Given the description of an element on the screen output the (x, y) to click on. 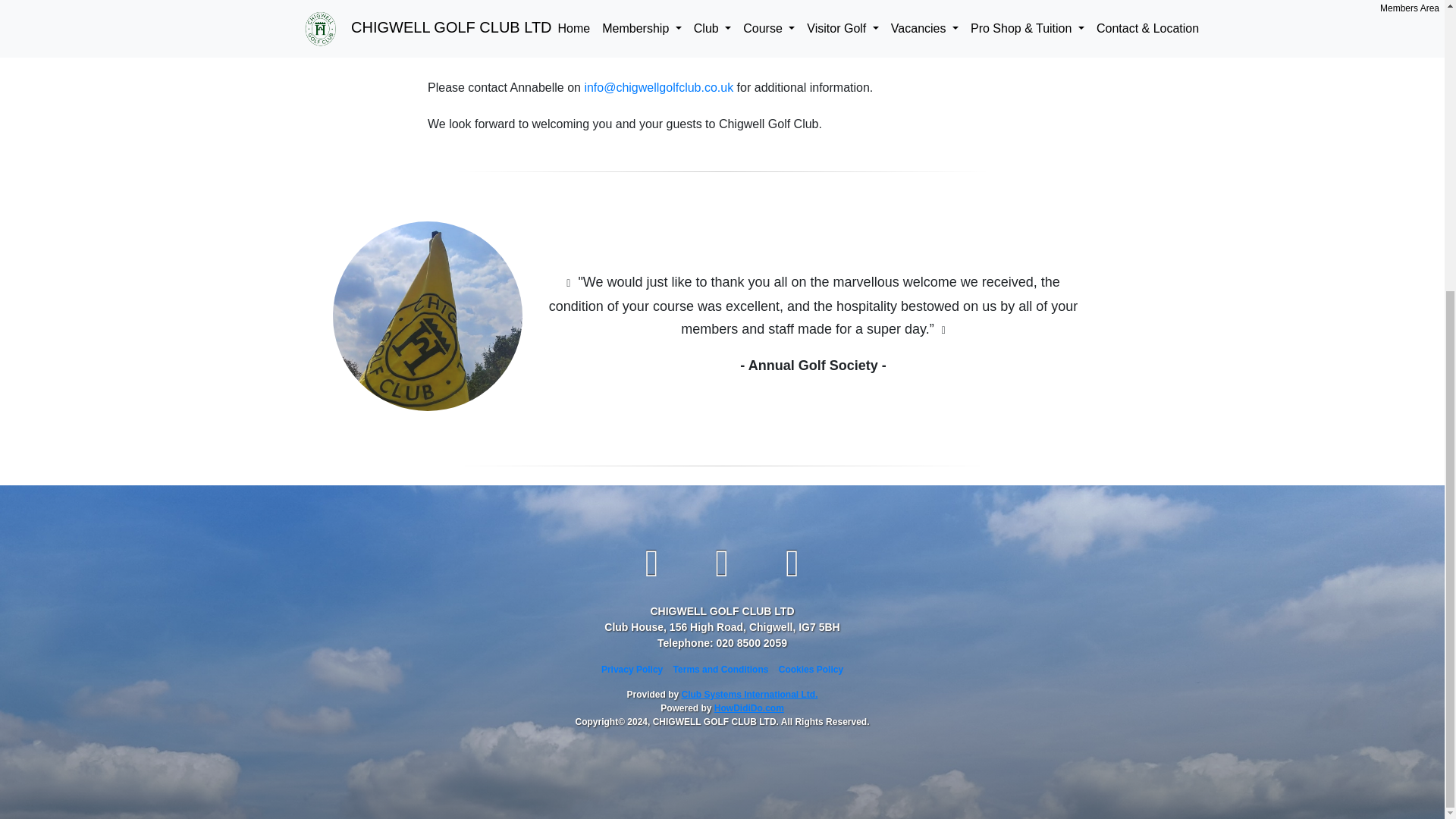
Privacy Policy (631, 669)
Terms and Conditions (720, 669)
Cookies Policy (810, 669)
Club Systems International Ltd. (748, 694)
